Given the description of an element on the screen output the (x, y) to click on. 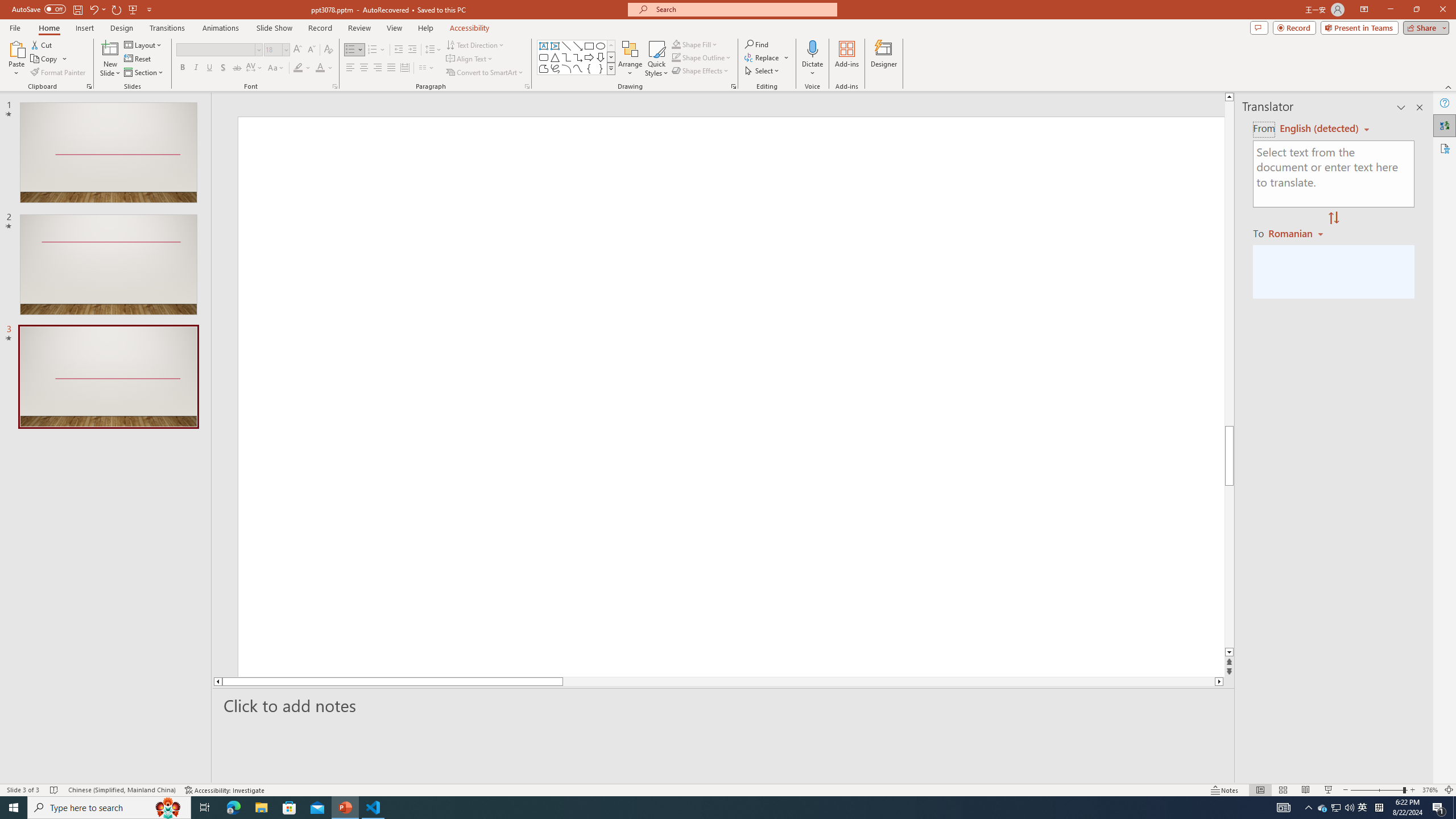
Czech (detected) (1319, 128)
